Given the description of an element on the screen output the (x, y) to click on. 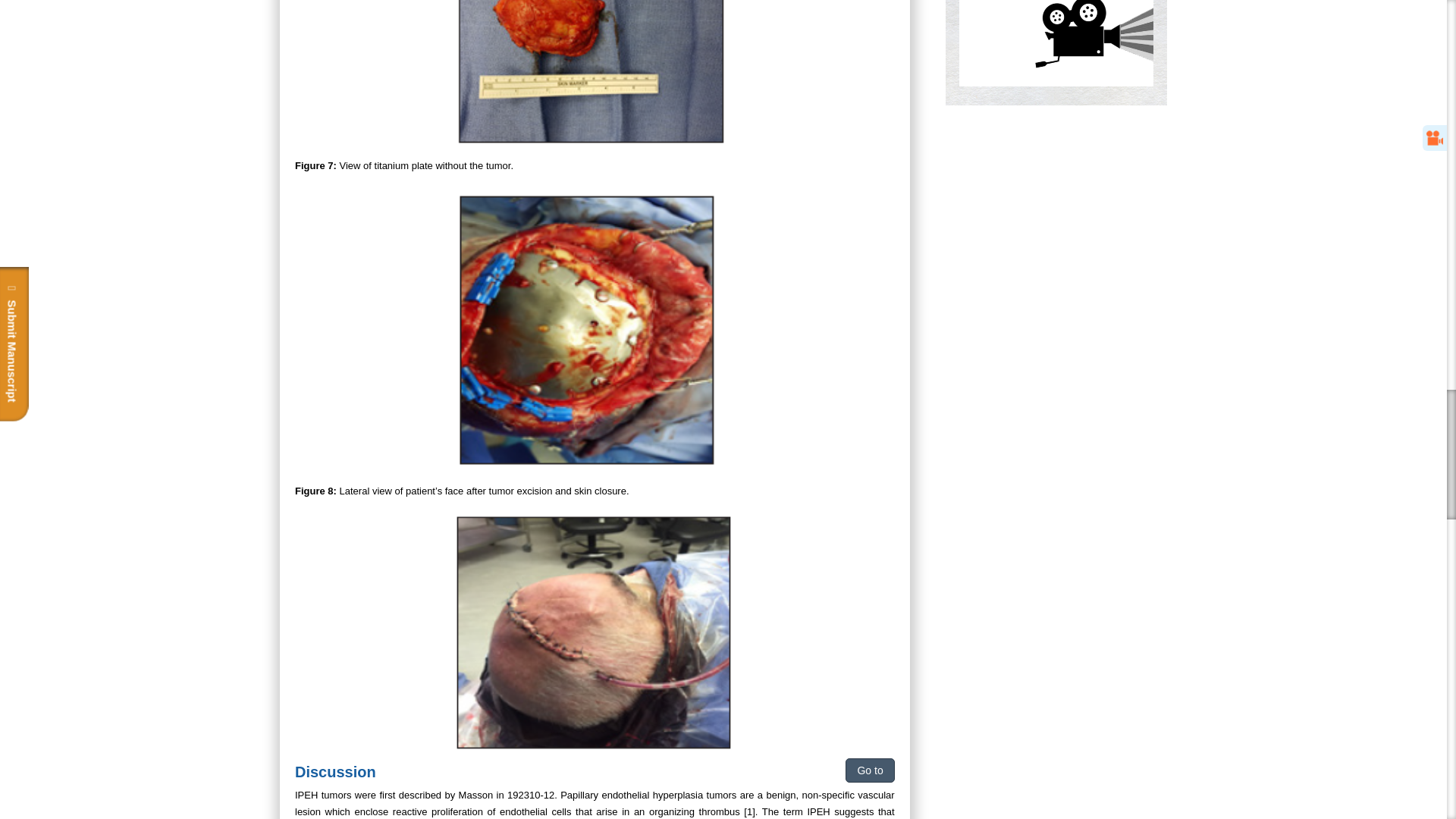
Click here to view Large Figure 7 (594, 328)
Click here to view Large Figure 6 (594, 73)
Click here to view Large Figure 8 (594, 631)
